Given the description of an element on the screen output the (x, y) to click on. 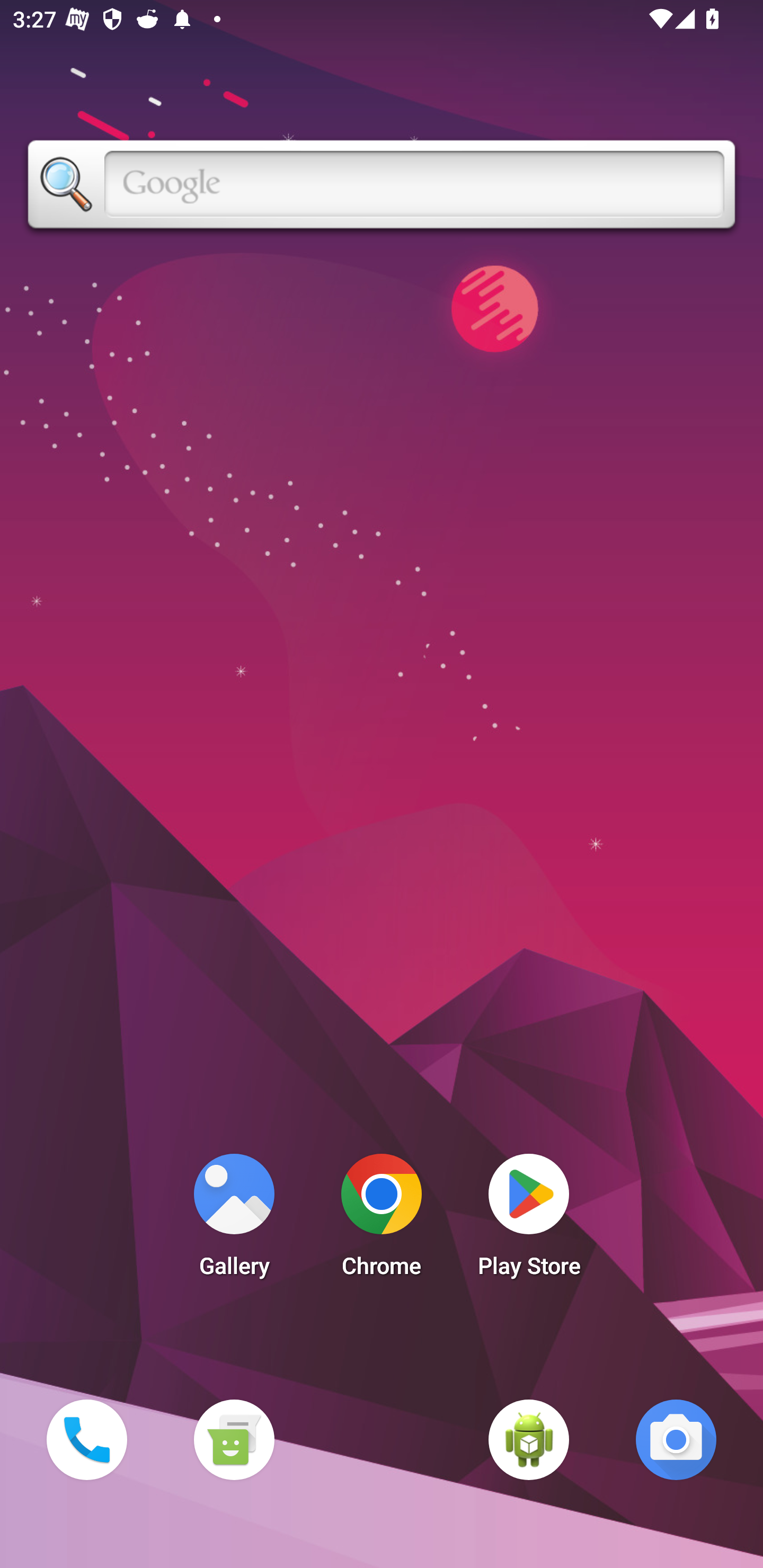
Gallery (233, 1220)
Chrome (381, 1220)
Play Store (528, 1220)
Phone (86, 1439)
Messaging (233, 1439)
WebView Browser Tester (528, 1439)
Camera (676, 1439)
